Given the description of an element on the screen output the (x, y) to click on. 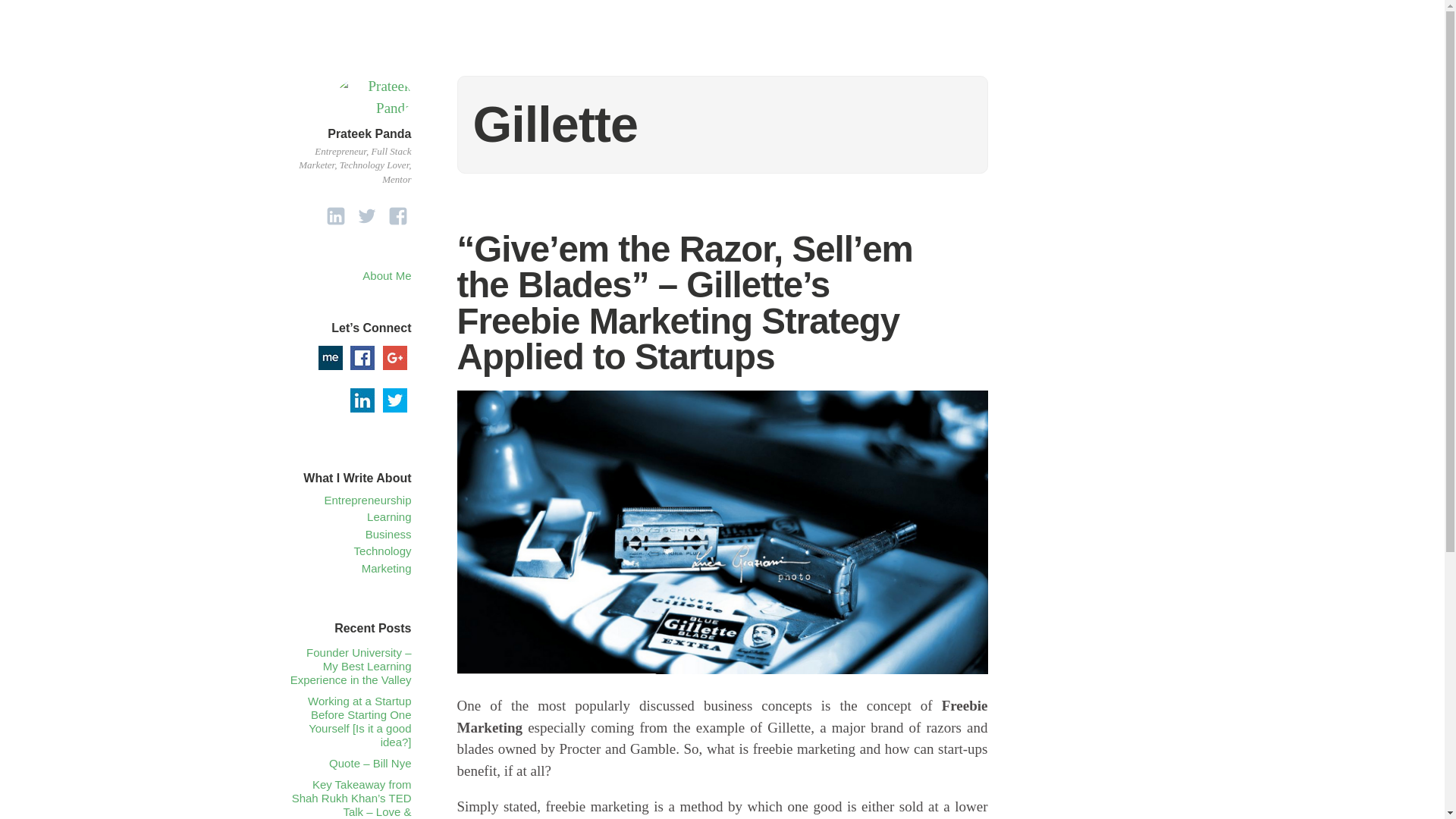
Prateek Panda (368, 133)
LinkedIn (362, 400)
Twitter (393, 400)
Learning (388, 516)
Facebook (362, 357)
Search (29, 13)
About.me (330, 357)
Entrepreneurship (366, 499)
Marketing (386, 567)
Prateek Panda (372, 107)
